Given the description of an element on the screen output the (x, y) to click on. 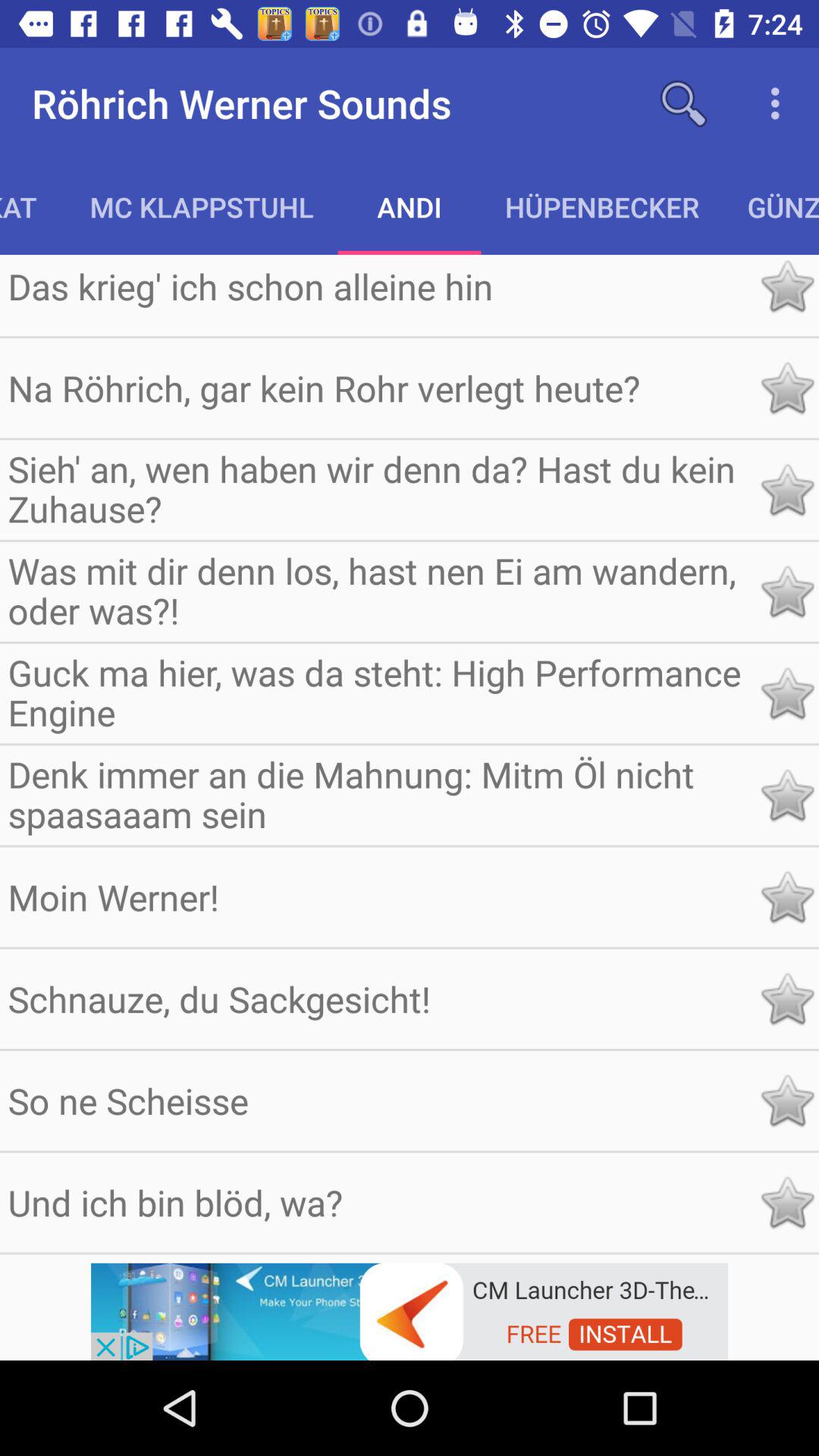
favorite the sound (787, 998)
